Given the description of an element on the screen output the (x, y) to click on. 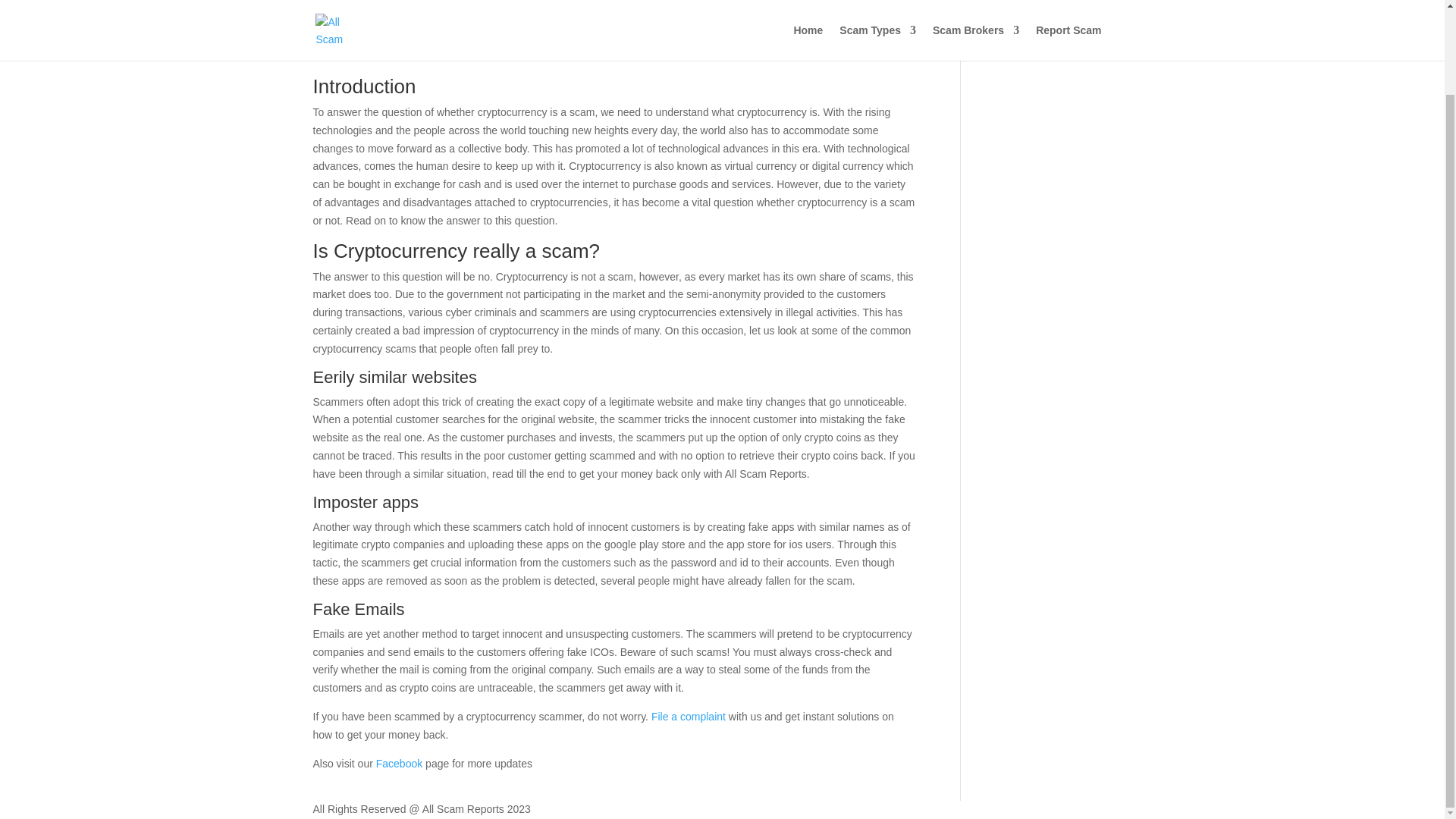
Facebook (398, 763)
File a complaint (687, 716)
